Given the description of an element on the screen output the (x, y) to click on. 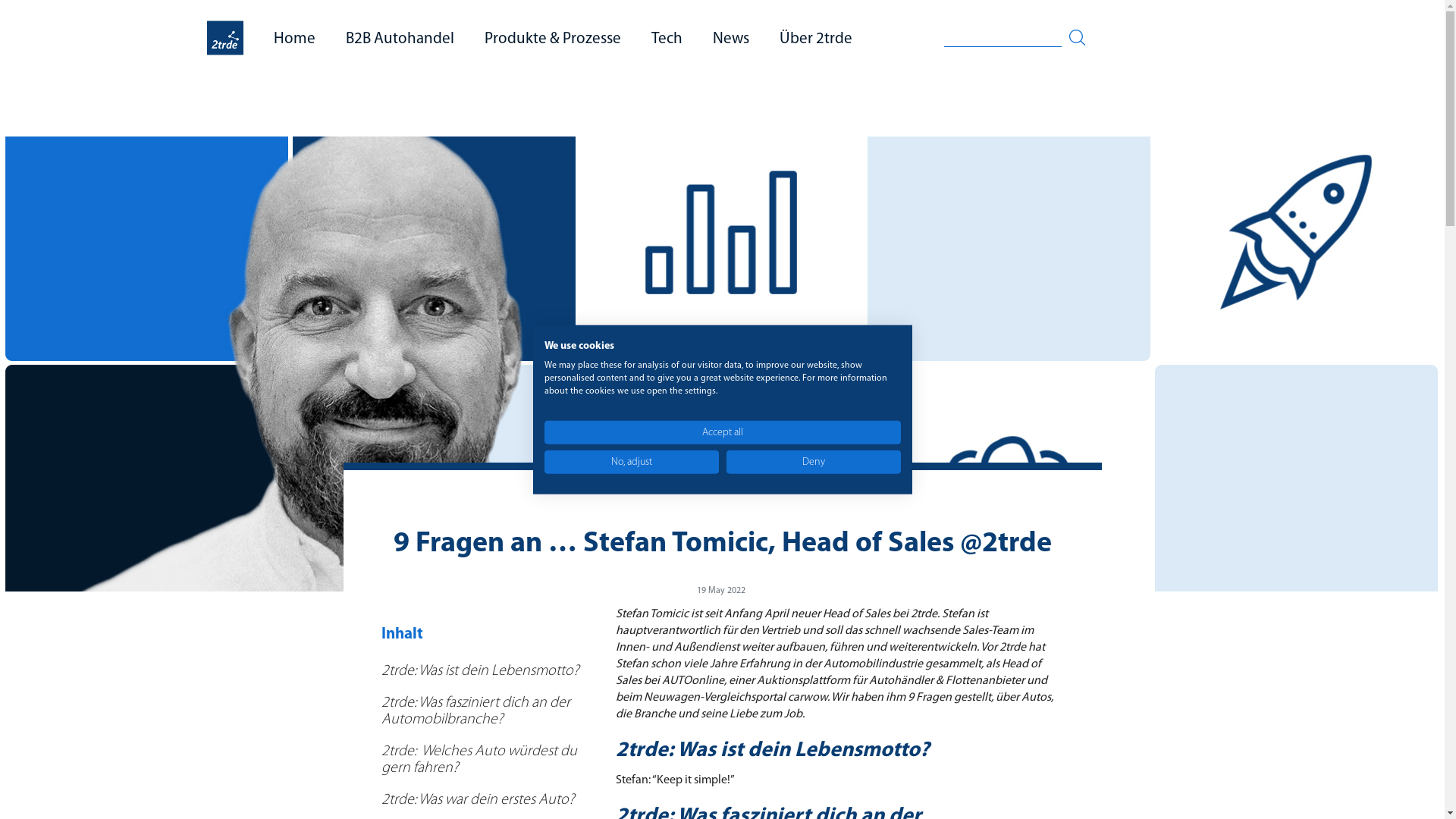
B2B Autohandel Element type: text (399, 38)
Deny Element type: text (813, 461)
Home Element type: text (294, 38)
News Element type: text (730, 38)
Produkte & Prozesse Element type: text (552, 38)
Tech Element type: text (666, 38)
2trde: Was war dein erstes Auto? Element type: text (490, 799)
Accept all Element type: text (722, 431)
No, adjust Element type: text (631, 461)
2trde: Was ist dein Lebensmotto? Element type: text (490, 671)
2trde: Was fasziniert dich an der Automobilbranche? Element type: text (490, 711)
